Given the description of an element on the screen output the (x, y) to click on. 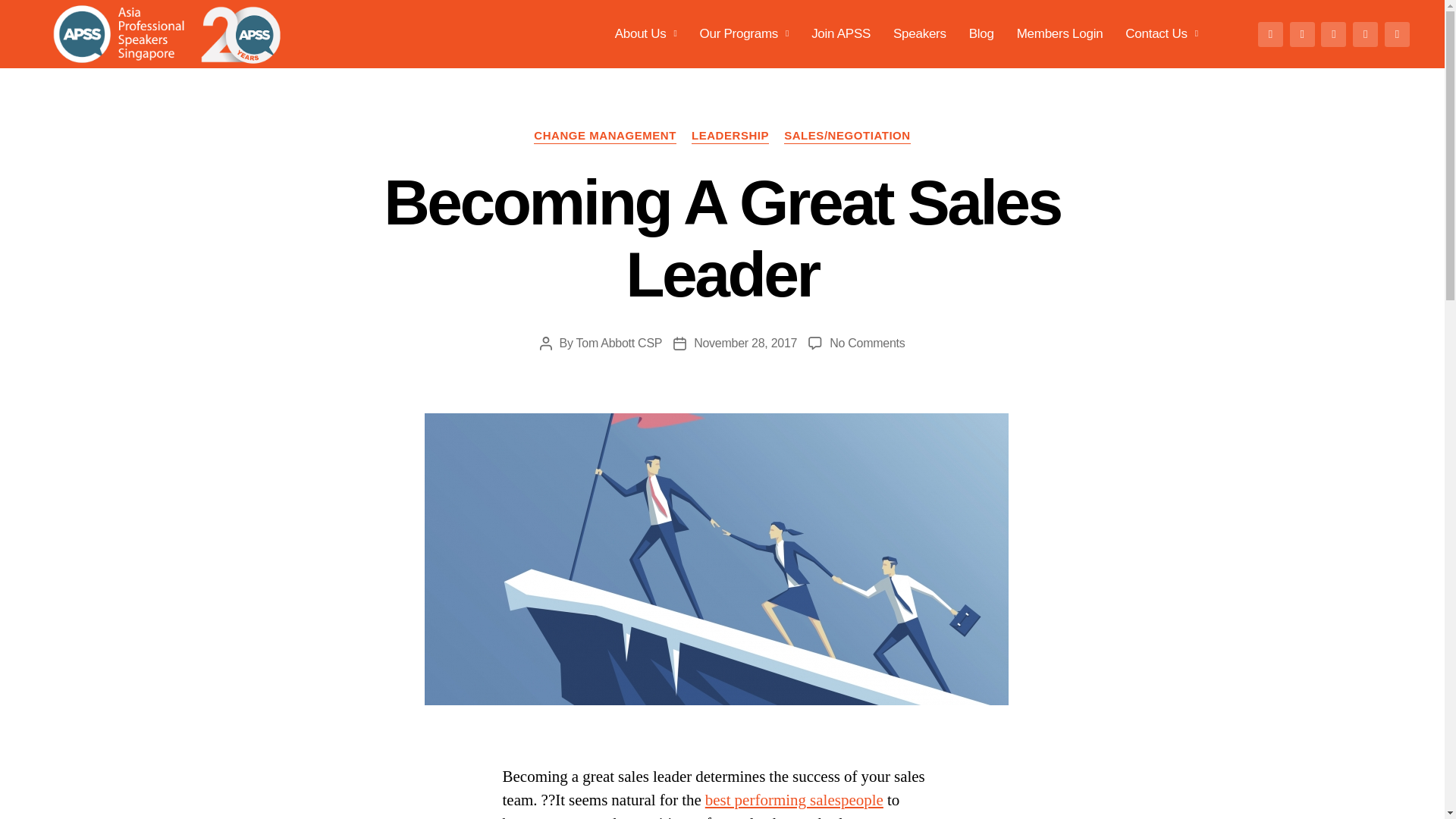
Our Programs (744, 33)
Members Login (1059, 33)
About Us (645, 33)
Contact Us (1160, 33)
